Given the description of an element on the screen output the (x, y) to click on. 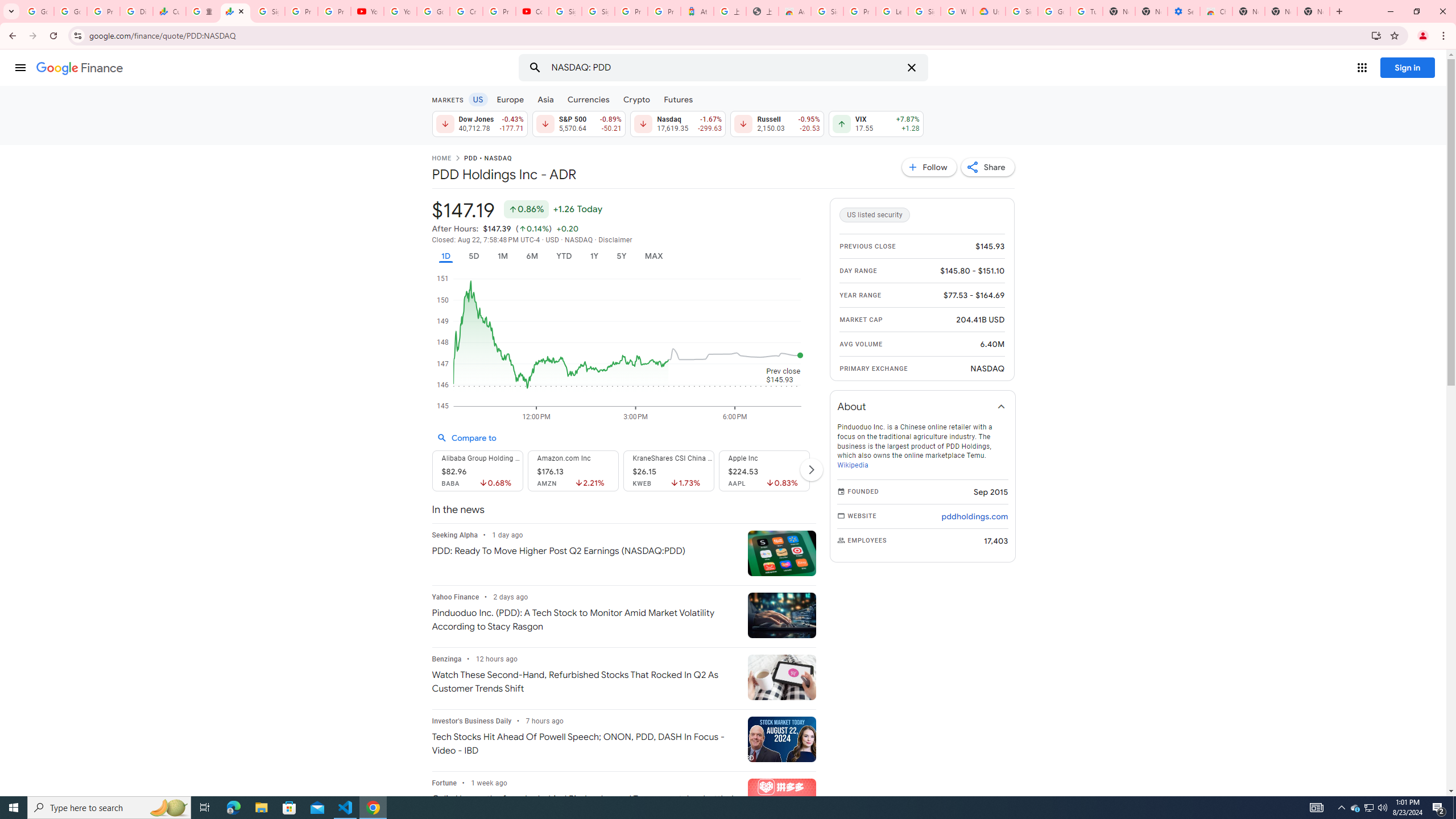
1Y (594, 255)
PDD Holdings Inc - ADR (PDD) Price & News - Google Finance (235, 11)
Europe (510, 99)
Sign in - Google Accounts (924, 11)
